Given the description of an element on the screen output the (x, y) to click on. 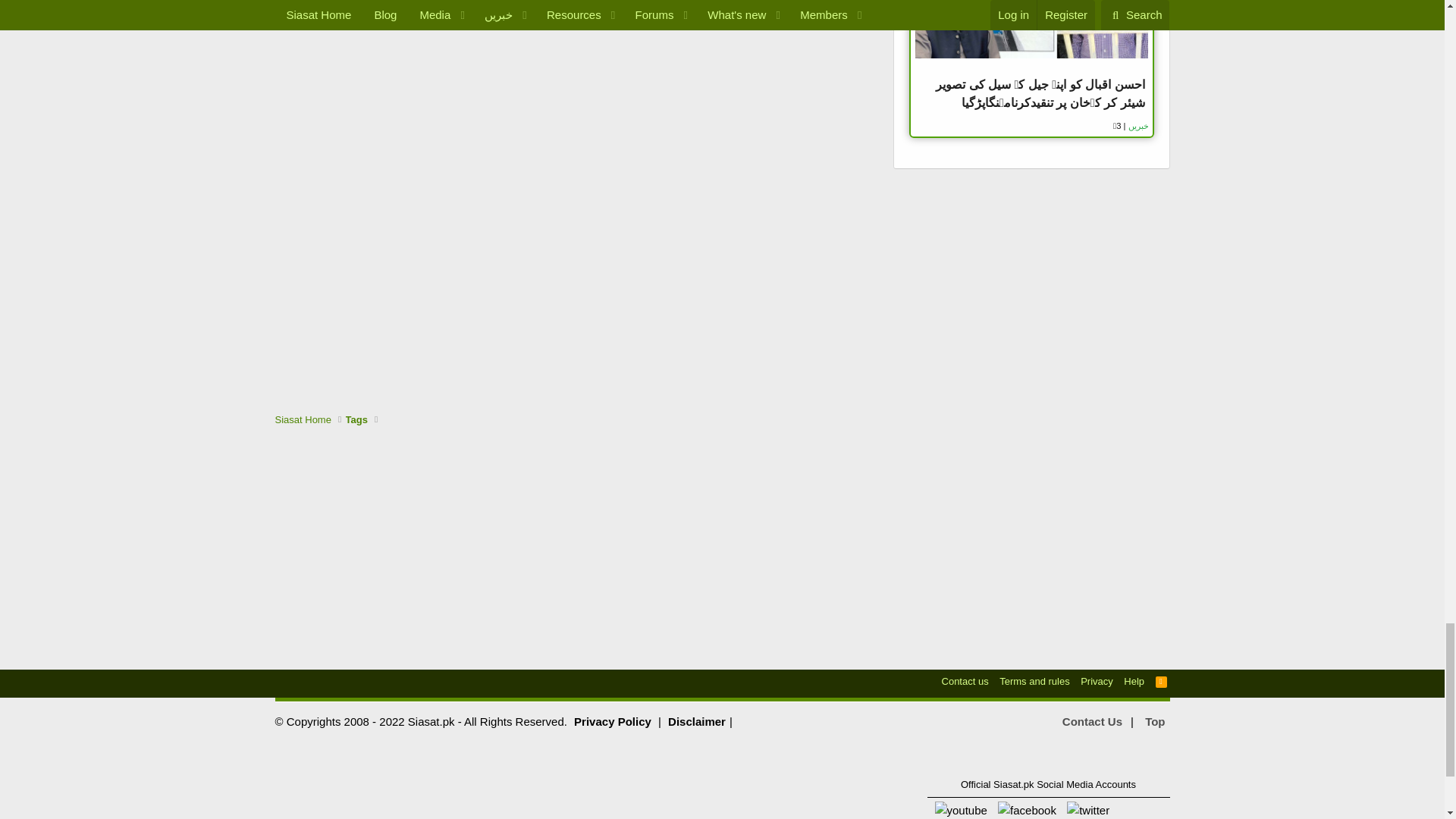
RSS (1161, 681)
